Given the description of an element on the screen output the (x, y) to click on. 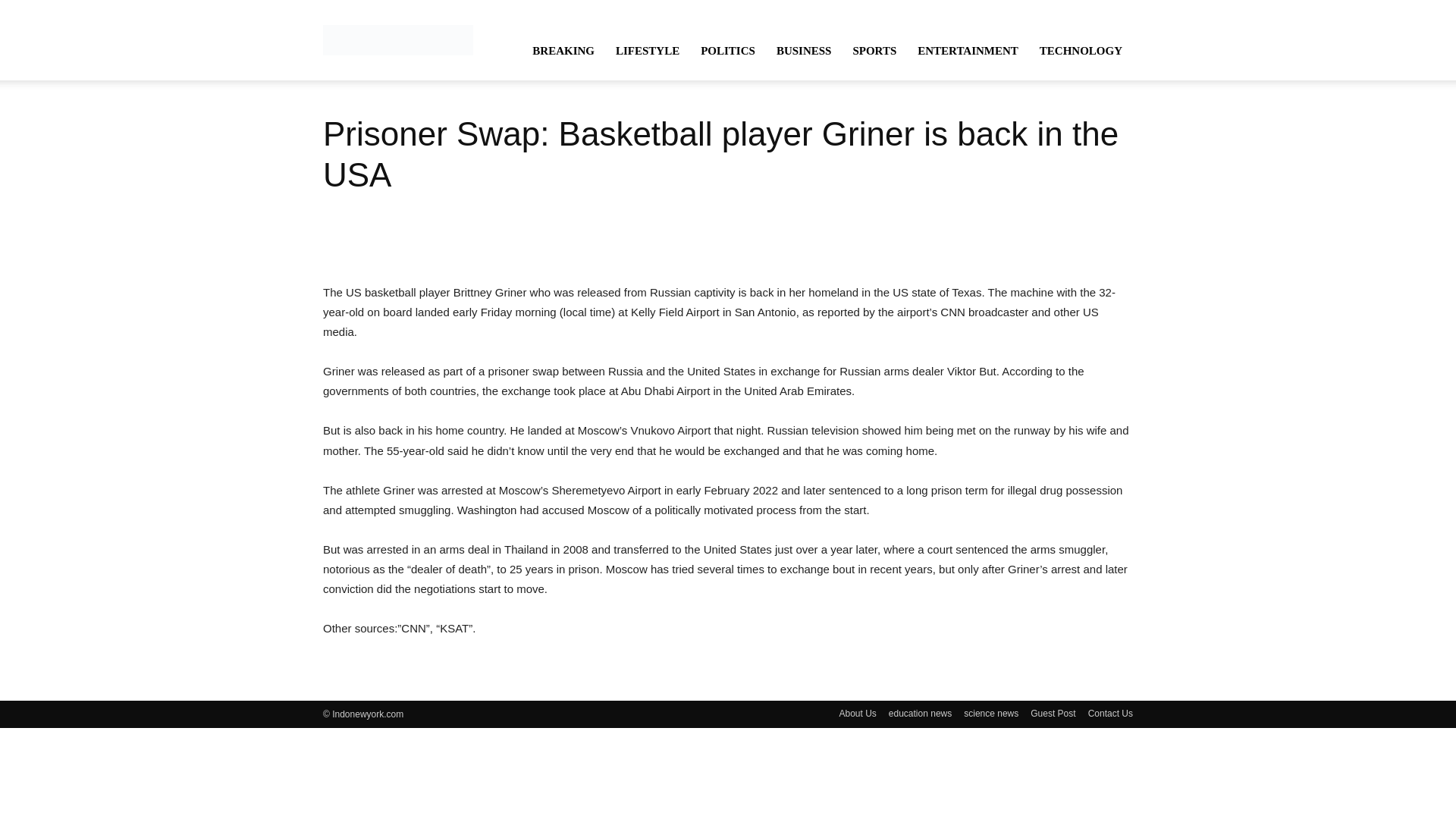
POLITICS (727, 50)
TECHNOLOGY (1080, 50)
Contact Us (1109, 713)
ENTERTAINMENT (968, 50)
LIFESTYLE (647, 50)
About Us (857, 713)
science news (990, 713)
education news (920, 713)
Indo Newyork (398, 39)
BREAKING (563, 50)
